Given the description of an element on the screen output the (x, y) to click on. 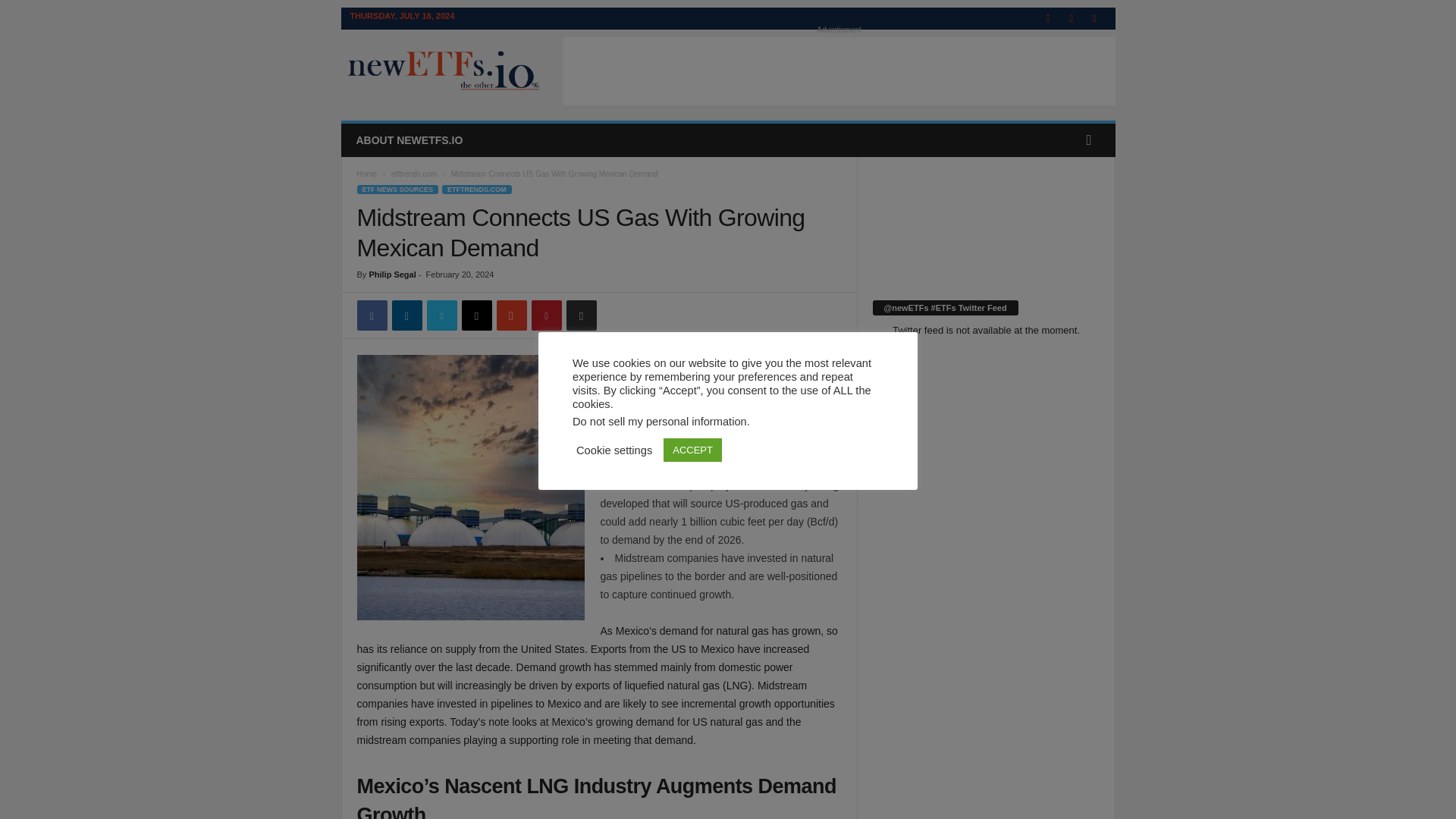
NewETFs.io (443, 70)
newETFs.io (443, 70)
Home (366, 173)
View all posts in etftrends.com (414, 173)
Advertisement (838, 70)
ETF NEWS SOURCES (397, 189)
Philip Segal (391, 274)
etftrends.com (414, 173)
ETFTRENDS.COM (477, 189)
ABOUT NEWETFS.IO (408, 140)
